Given the description of an element on the screen output the (x, y) to click on. 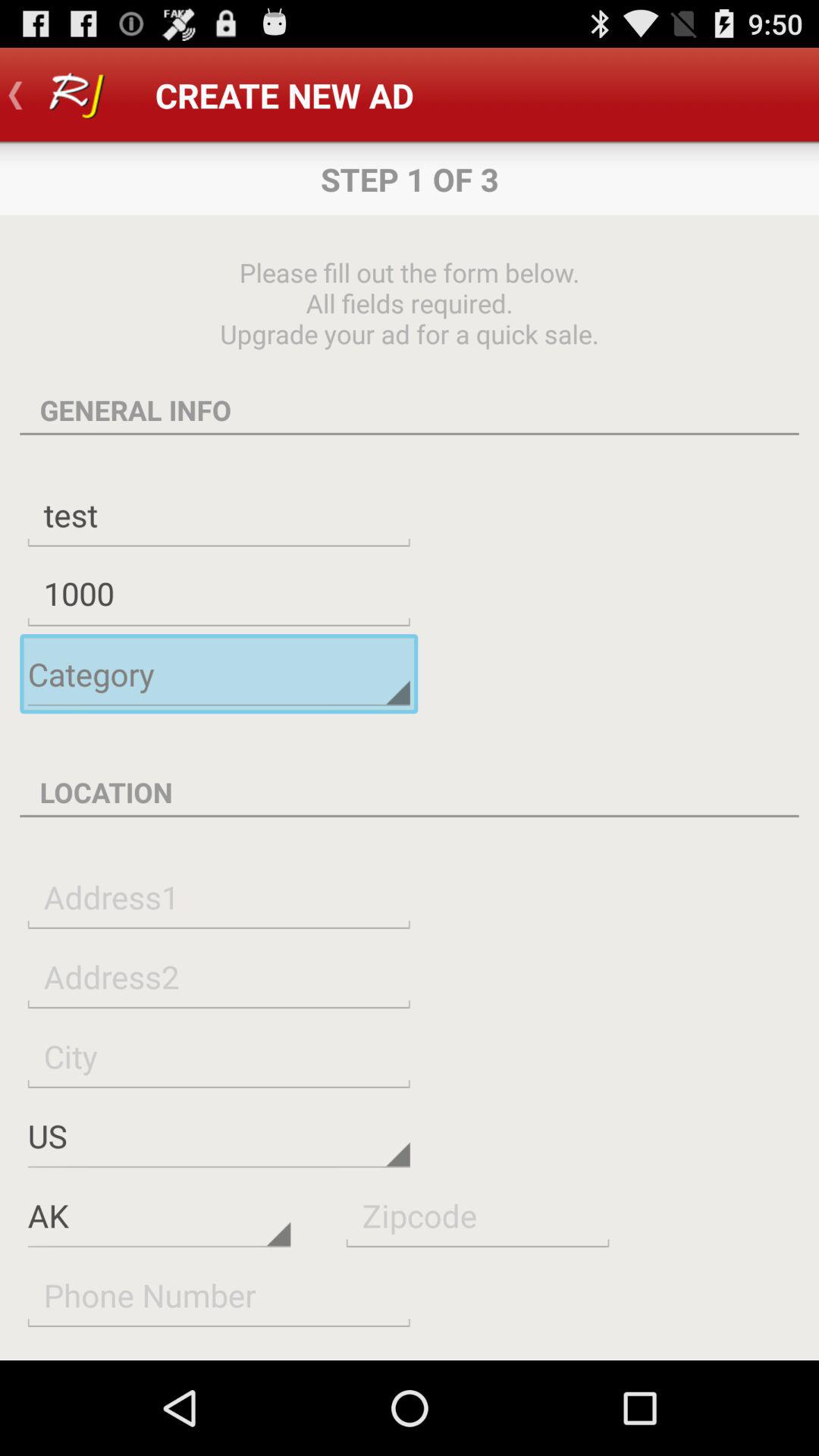
to fill in your address (218, 976)
